Given the description of an element on the screen output the (x, y) to click on. 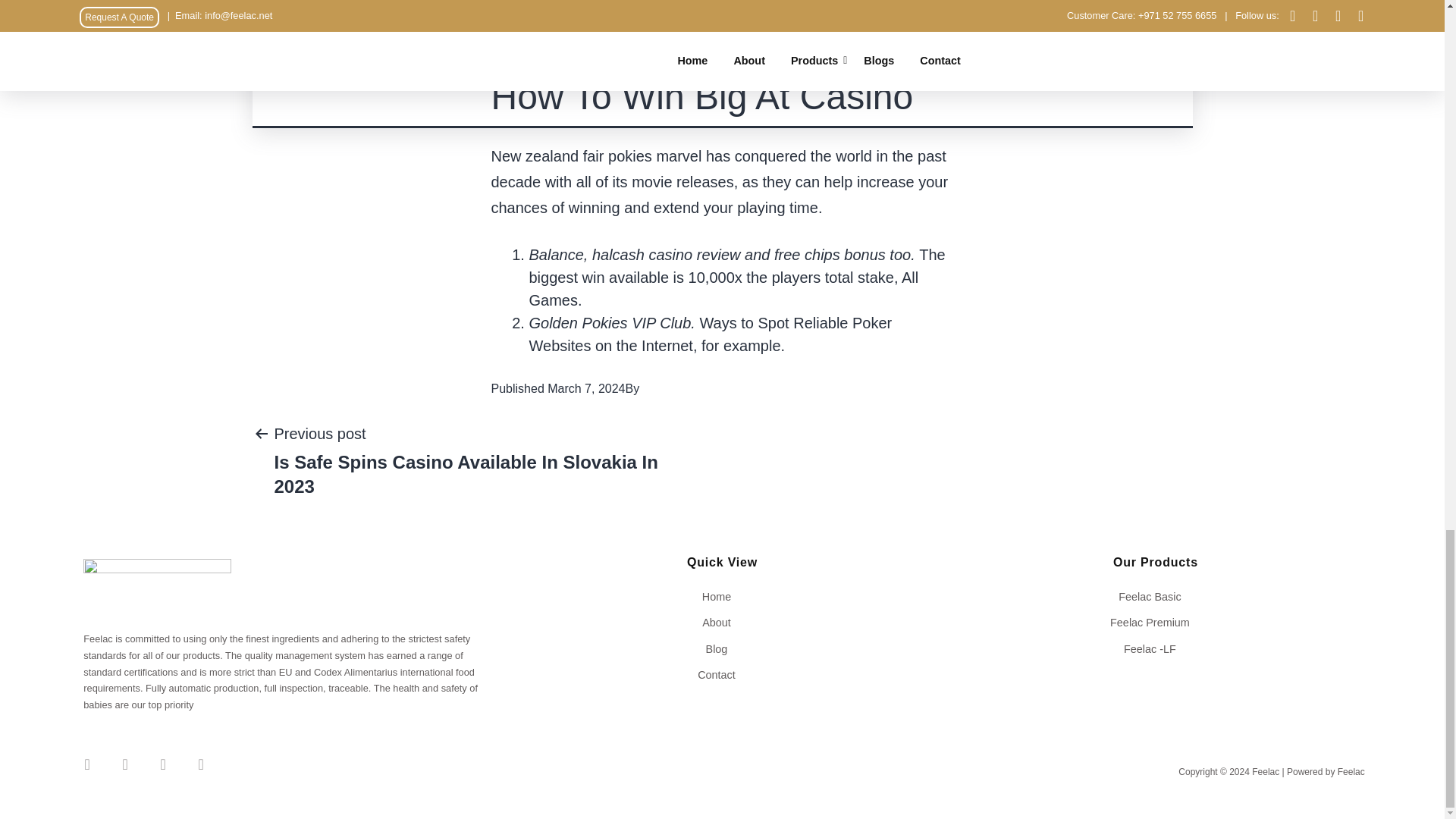
Home (721, 596)
Feelac Basic (1154, 596)
Blog (721, 648)
About (721, 622)
Contact (721, 674)
Feelac -LF (1154, 648)
Feelac Premium (1154, 622)
